Given the description of an element on the screen output the (x, y) to click on. 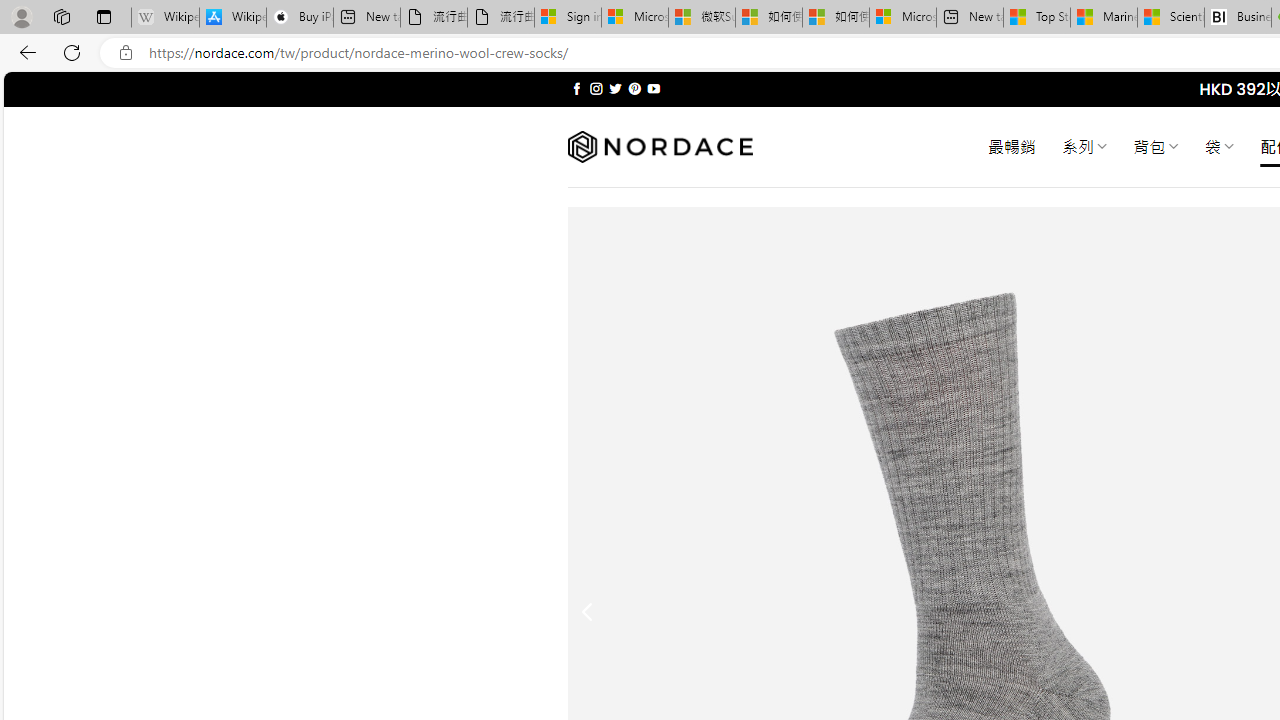
Follow on Twitter (615, 88)
